Given the description of an element on the screen output the (x, y) to click on. 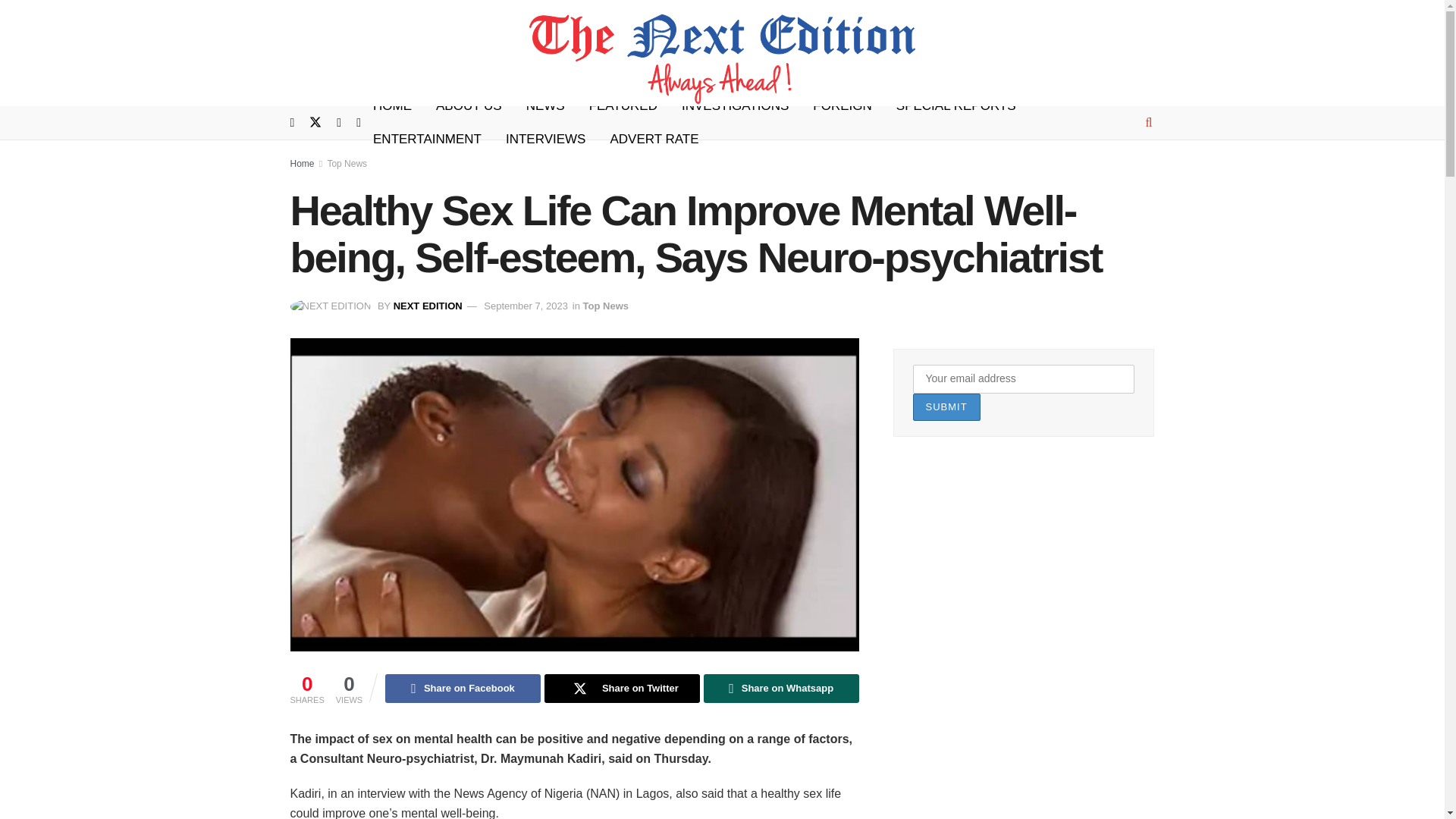
SPECIAL REPORTS (955, 105)
Top News (346, 163)
INTERVIEWS (544, 139)
HOME (392, 105)
FEATURED (622, 105)
ADVERT RATE (653, 139)
Submit (945, 407)
ABOUT US (468, 105)
Share on Facebook (462, 688)
INVESTIGATIONS (734, 105)
Home (301, 163)
September 7, 2023 (525, 306)
NEWS (544, 105)
ENTERTAINMENT (427, 139)
NEXT EDITION (428, 306)
